Given the description of an element on the screen output the (x, y) to click on. 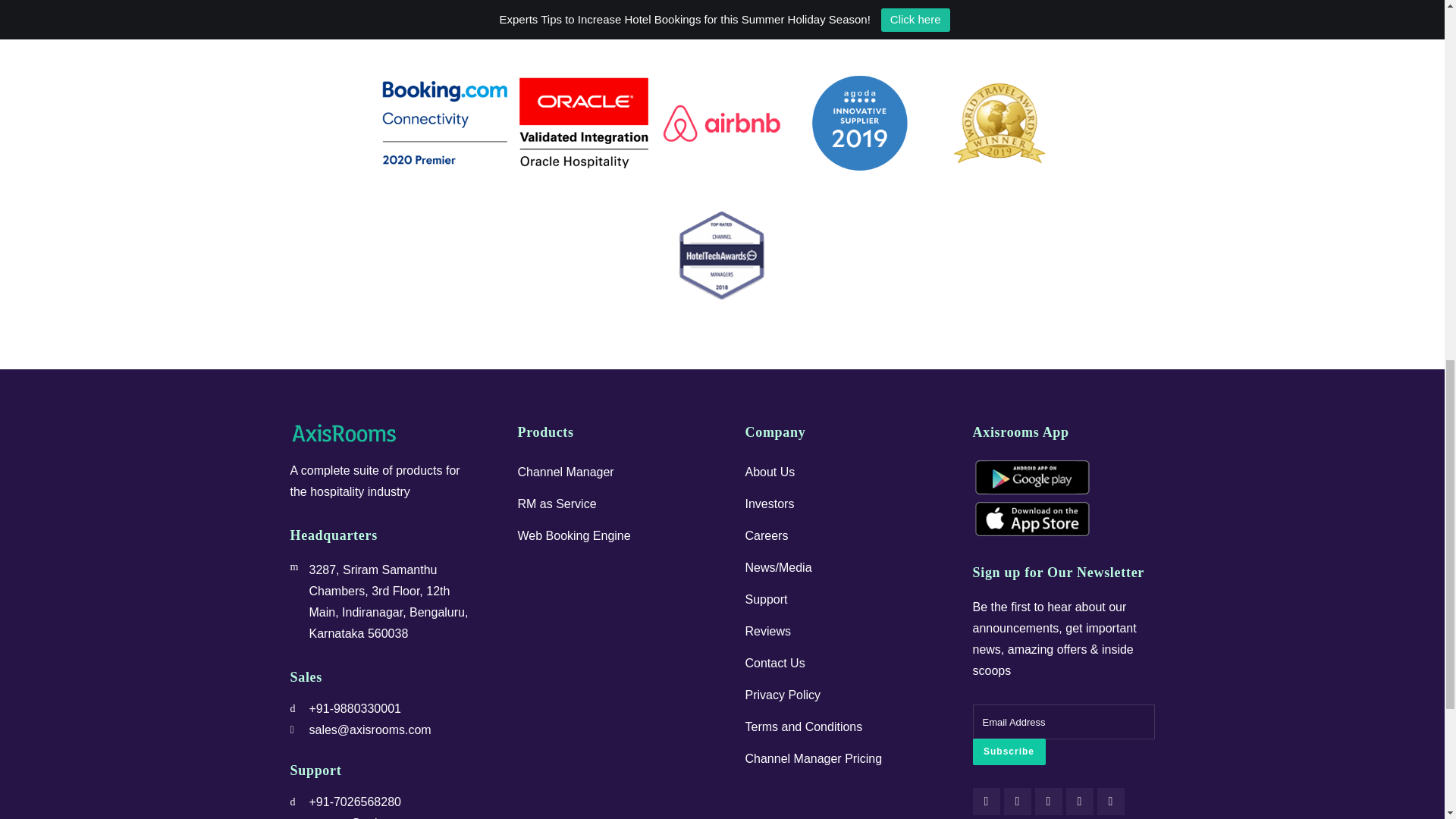
2019-11-13-1 (997, 122)
Booking.com (444, 19)
oracle-partner (721, 19)
software-suggest (582, 19)
2020-01-28-1024x762 (444, 122)
airbnb (721, 122)
hotel-tech-report-2018-120x125 (721, 255)
air-bnb-partner (859, 19)
Subscribe (1008, 751)
Rising-Star-300x300 (997, 19)
